Given the description of an element on the screen output the (x, y) to click on. 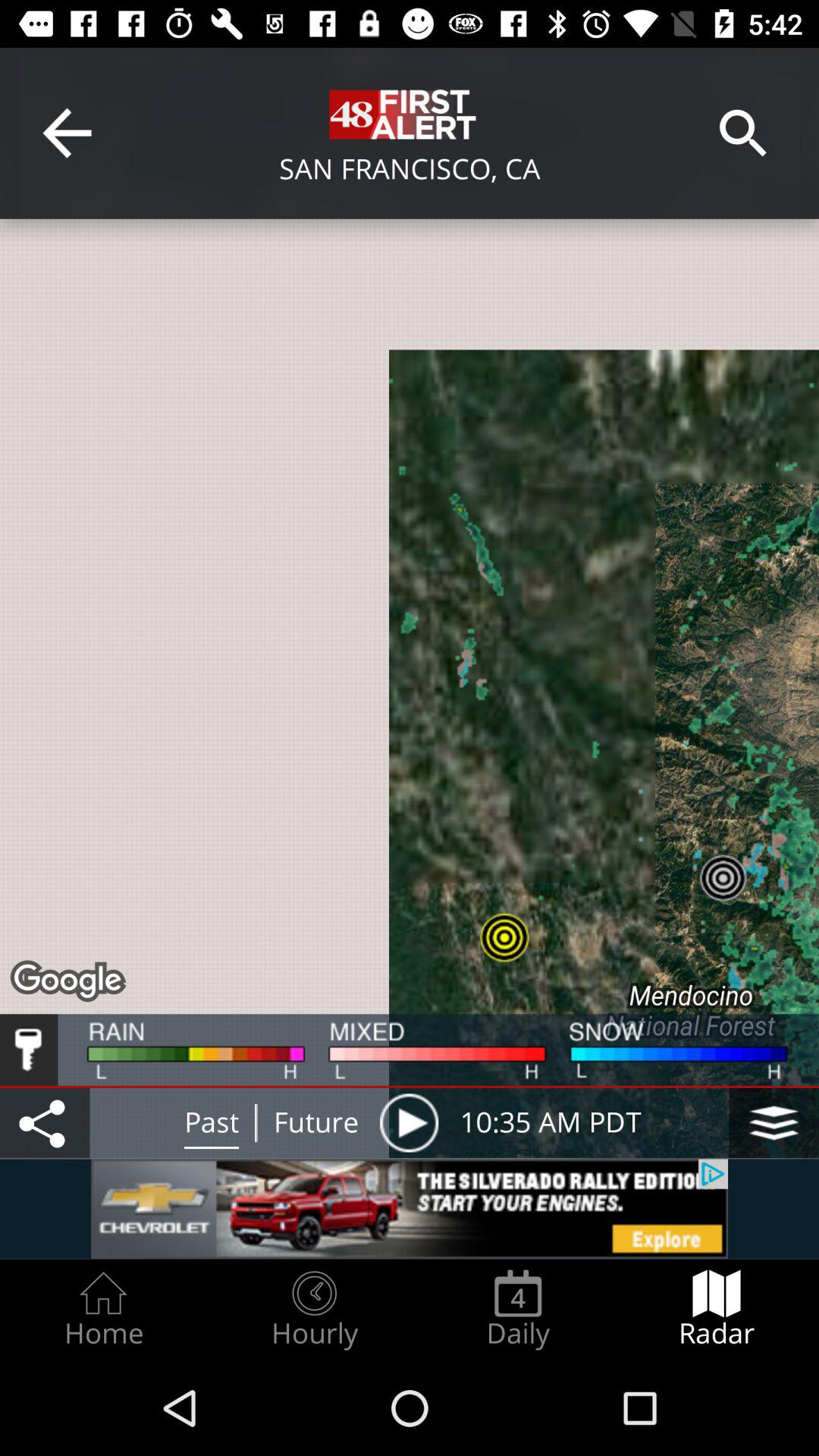
tap hourly icon (314, 1309)
